Given the description of an element on the screen output the (x, y) to click on. 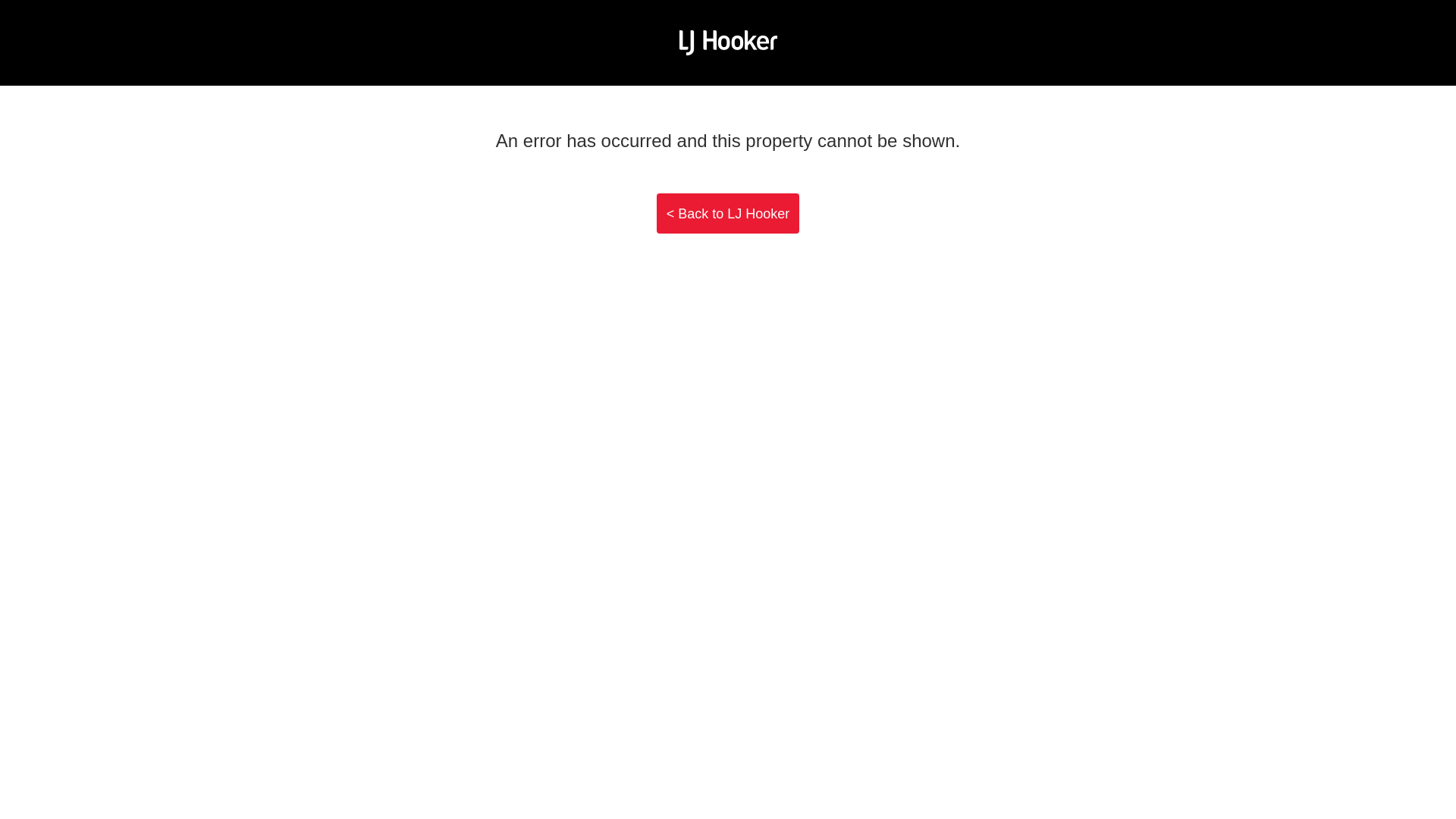
< Back to LJ Hooker Element type: text (728, 213)
